Given the description of an element on the screen output the (x, y) to click on. 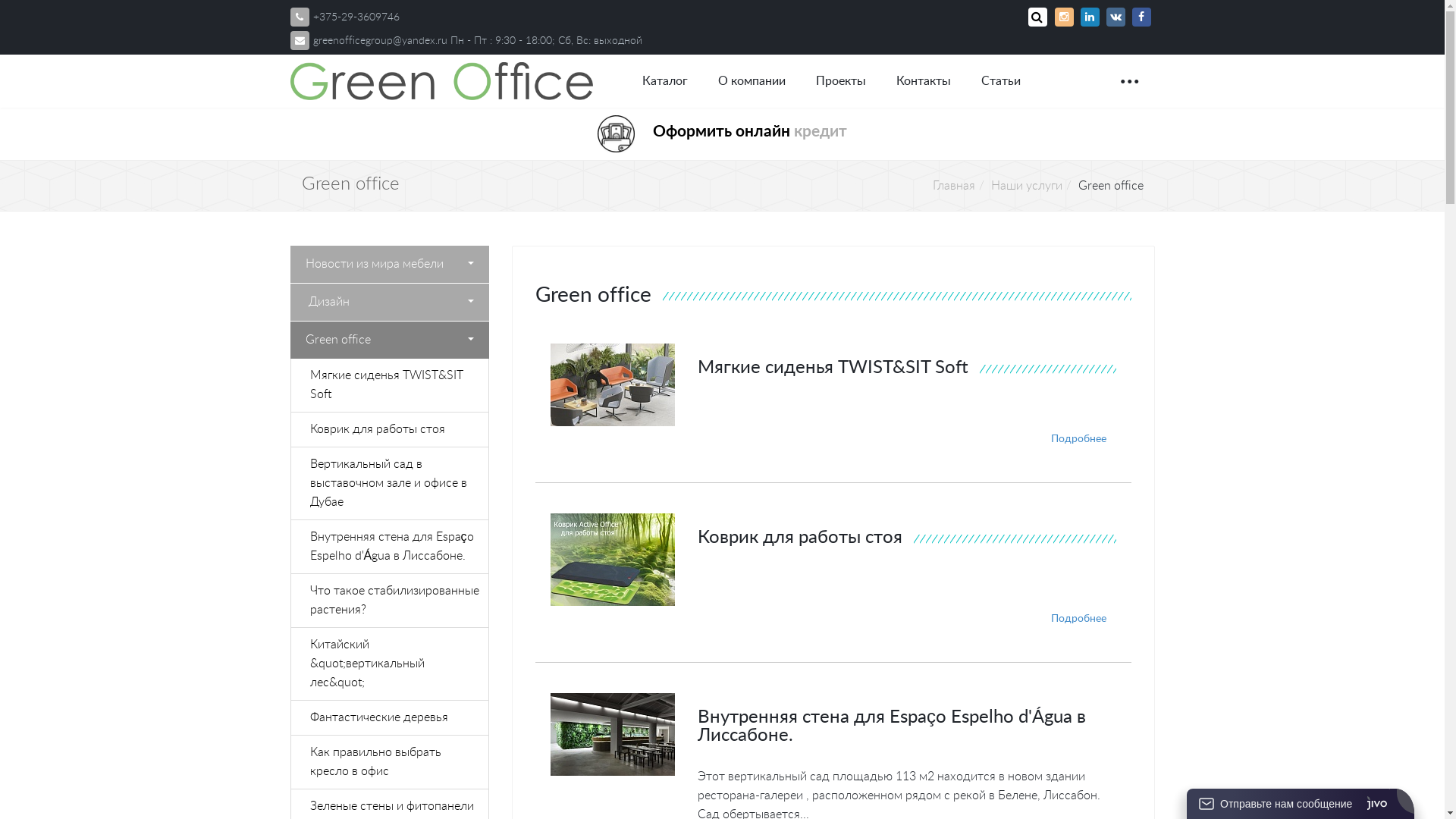
Green Office Element type: hover (440, 81)
... Element type: text (1129, 74)
Green office Element type: text (389, 339)
